Given the description of an element on the screen output the (x, y) to click on. 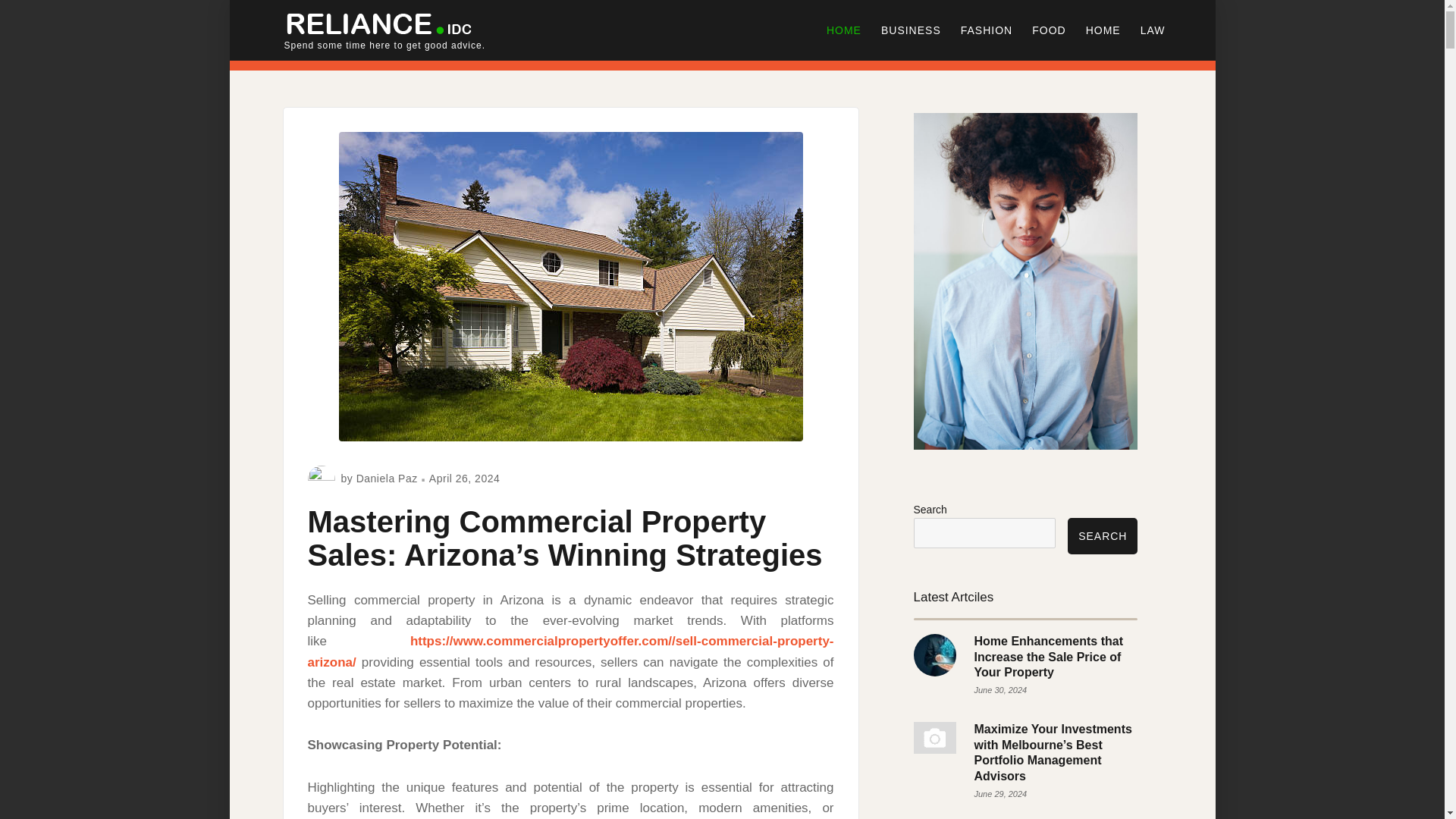
FASHION (986, 29)
April 26, 2024 (464, 478)
HOME (1103, 29)
HOME (843, 29)
BUSINESS (910, 29)
FOOD (1048, 29)
Daniela Paz (386, 478)
LAW (1152, 29)
